Given the description of an element on the screen output the (x, y) to click on. 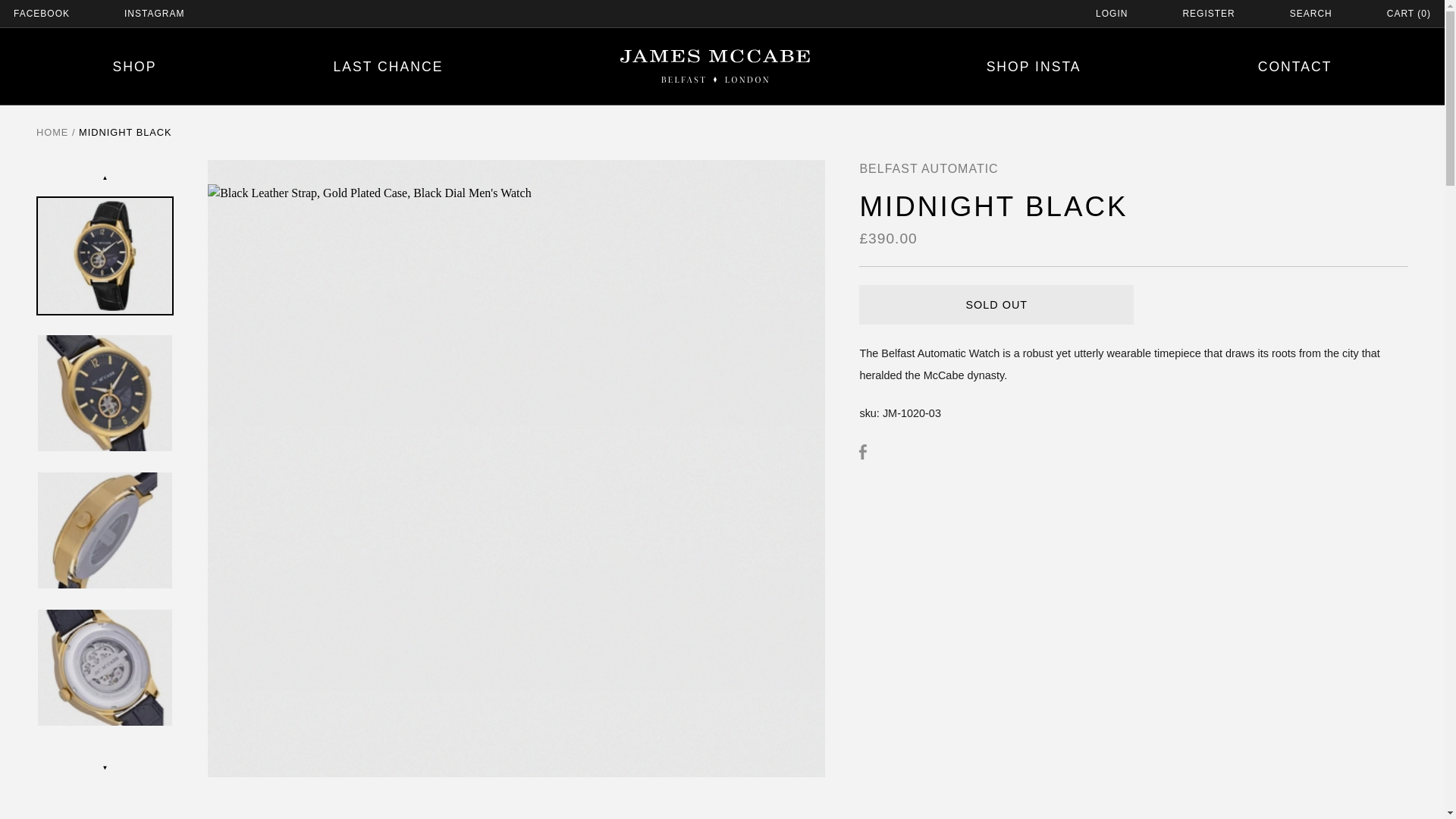
SEARCH (1311, 13)
LOGIN (1111, 13)
SOLD OUT (996, 304)
LAST CHANCE (388, 66)
SHOP (135, 66)
SHOP INSTA (1034, 66)
INSTAGRAM (153, 13)
HOME (52, 132)
FACEBOOK (41, 13)
REGISTER (1208, 13)
CONTACT (1294, 66)
